Given the description of an element on the screen output the (x, y) to click on. 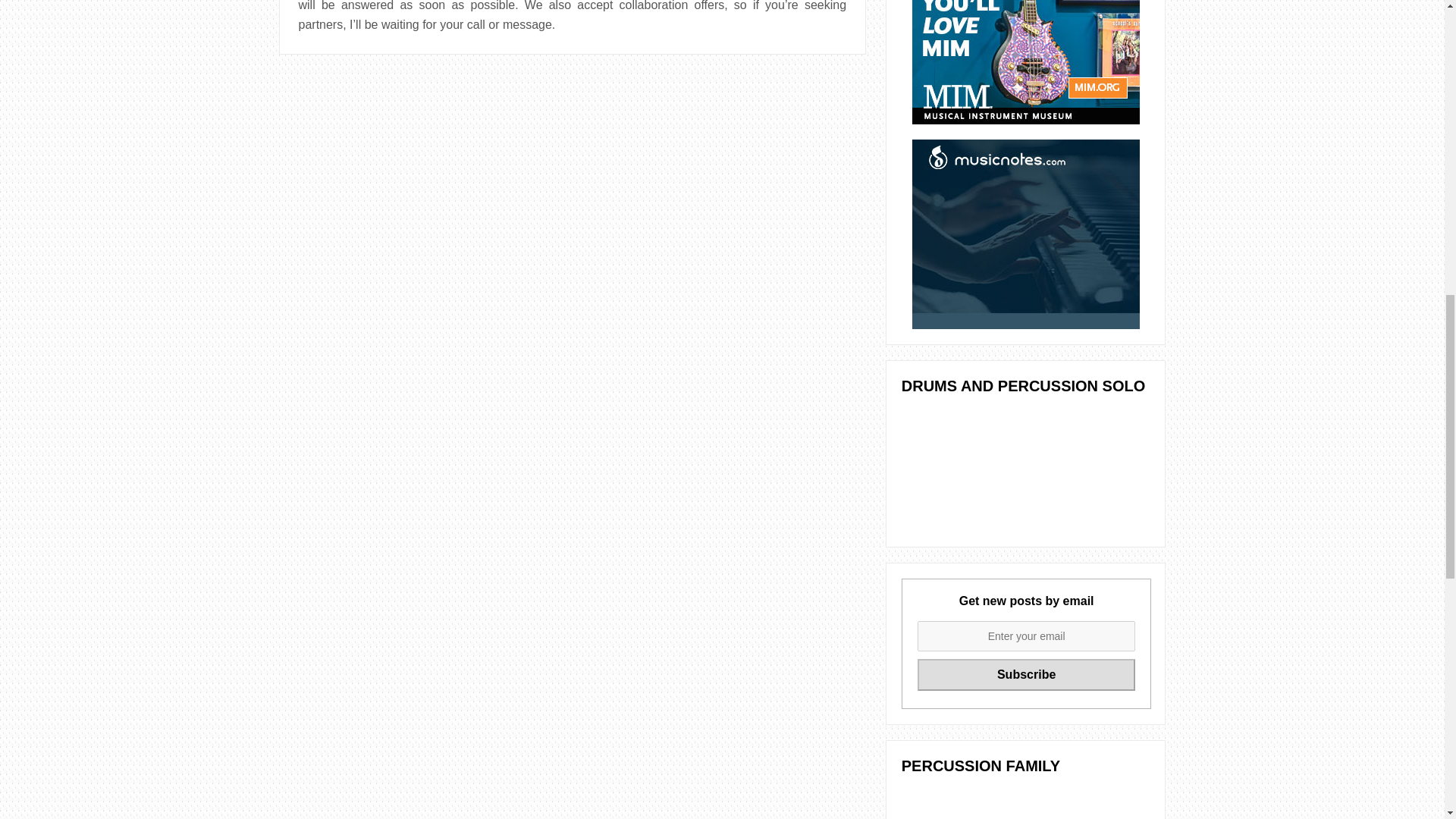
Subscribe (1026, 675)
Subscribe (1026, 675)
